Given the description of an element on the screen output the (x, y) to click on. 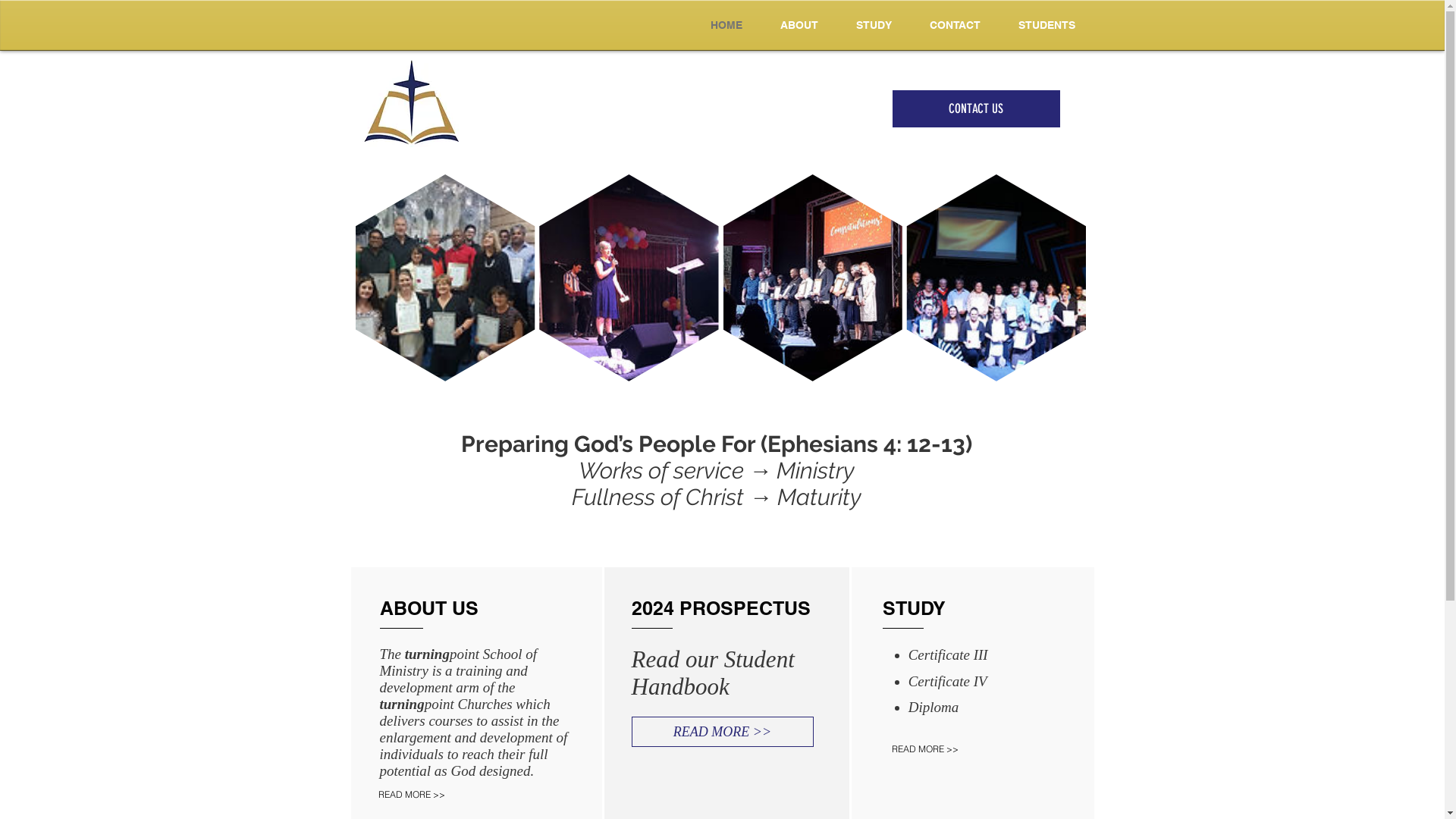
CONTACT US Element type: text (975, 108)
STUDY Element type: text (873, 24)
CONTACT Element type: text (954, 24)
READ MORE >> Element type: text (428, 793)
READ MORE >> Element type: text (721, 731)
STUDENTS Element type: text (1046, 24)
HOME Element type: text (726, 24)
ABOUT Element type: text (799, 24)
READ MORE >> Element type: text (949, 748)
